Given the description of an element on the screen output the (x, y) to click on. 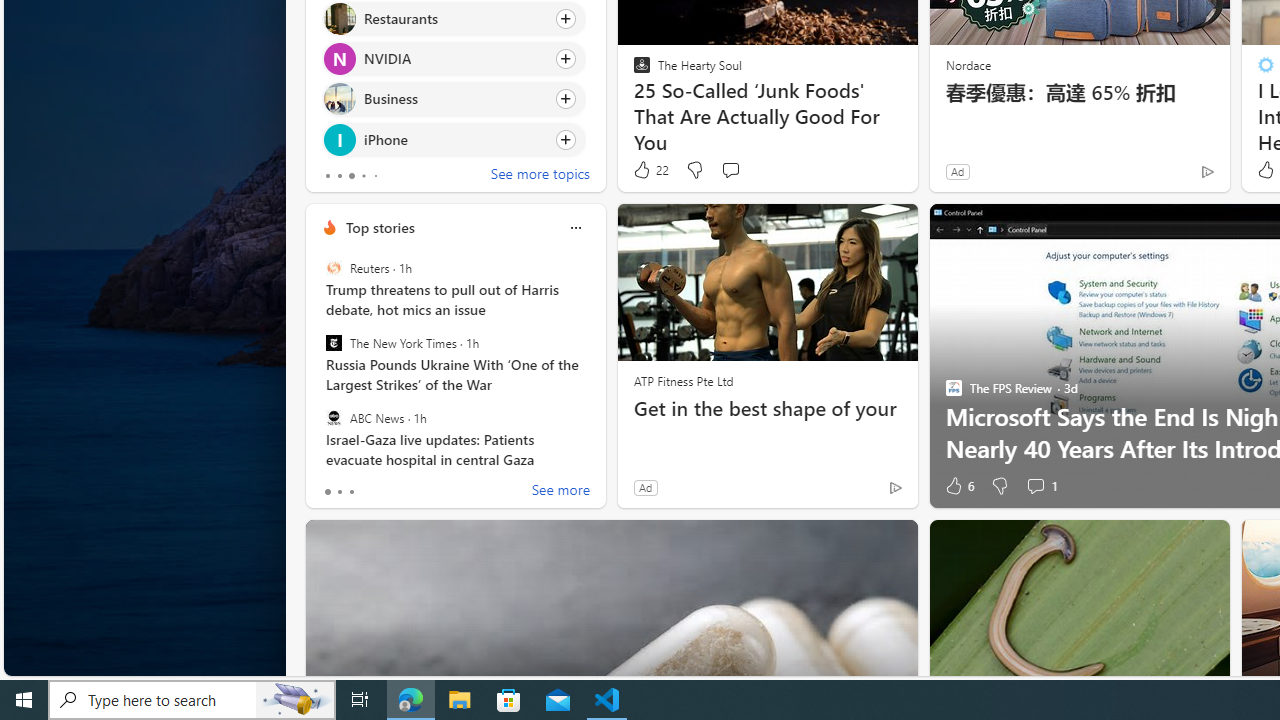
Click to follow topic NVIDIA (453, 59)
Ad (644, 487)
View comments 1 Comment (1041, 485)
next (595, 39)
Start the conversation (730, 169)
Click to follow topic iPhone (453, 138)
See more topics (540, 175)
Top stories (379, 227)
Start the conversation (729, 170)
Nordace (967, 64)
tab-2 (351, 491)
tab-1 (338, 491)
